Given the description of an element on the screen output the (x, y) to click on. 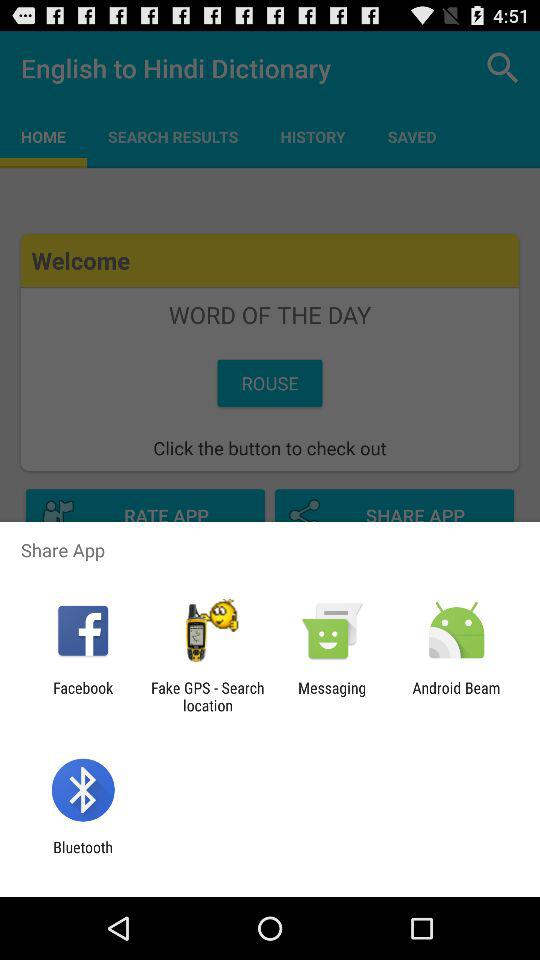
launch the fake gps search app (207, 696)
